Given the description of an element on the screen output the (x, y) to click on. 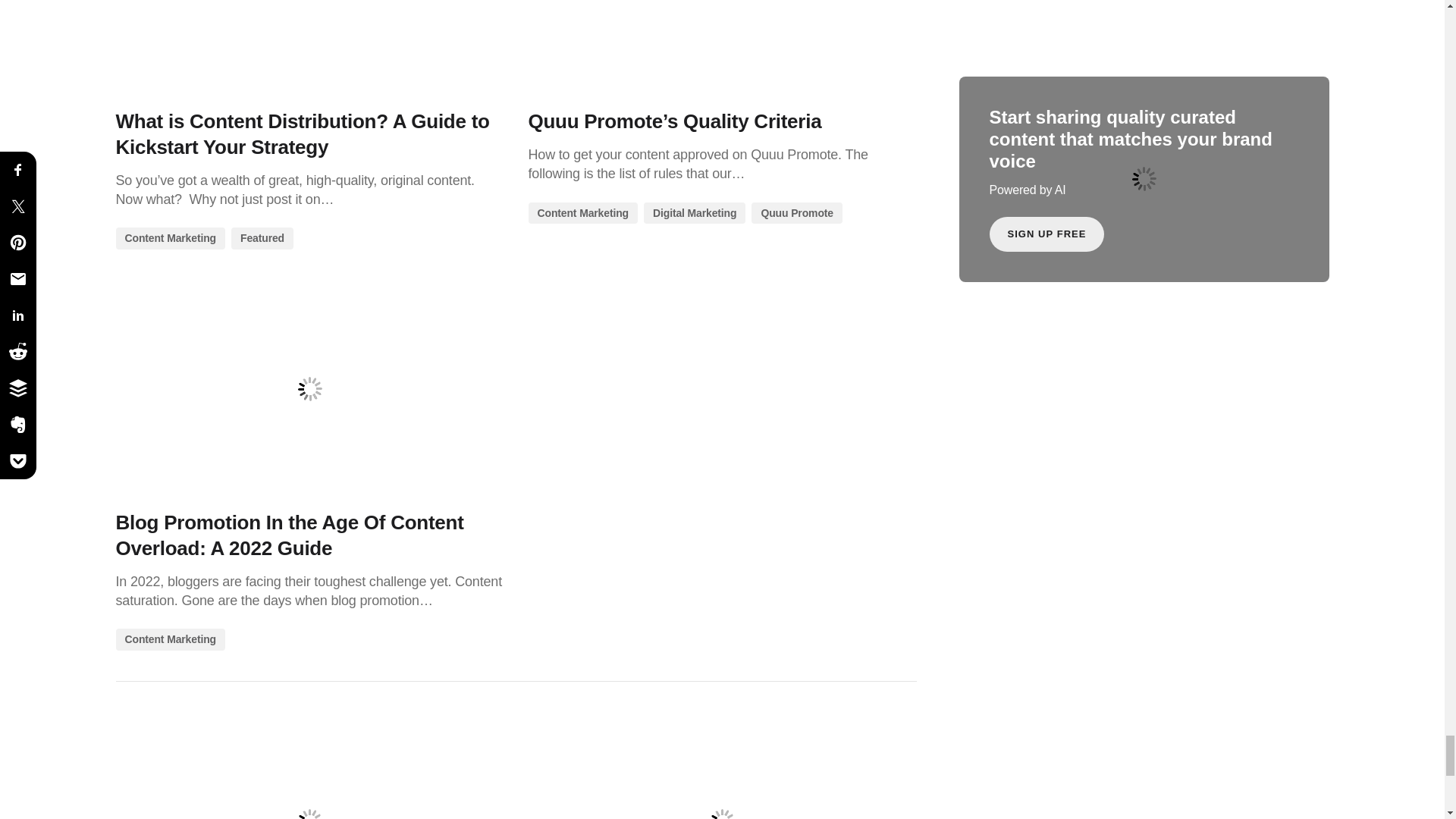
Blog Promotion In the Age Of Content Overload: A 2022 Guide (309, 388)
